Given the description of an element on the screen output the (x, y) to click on. 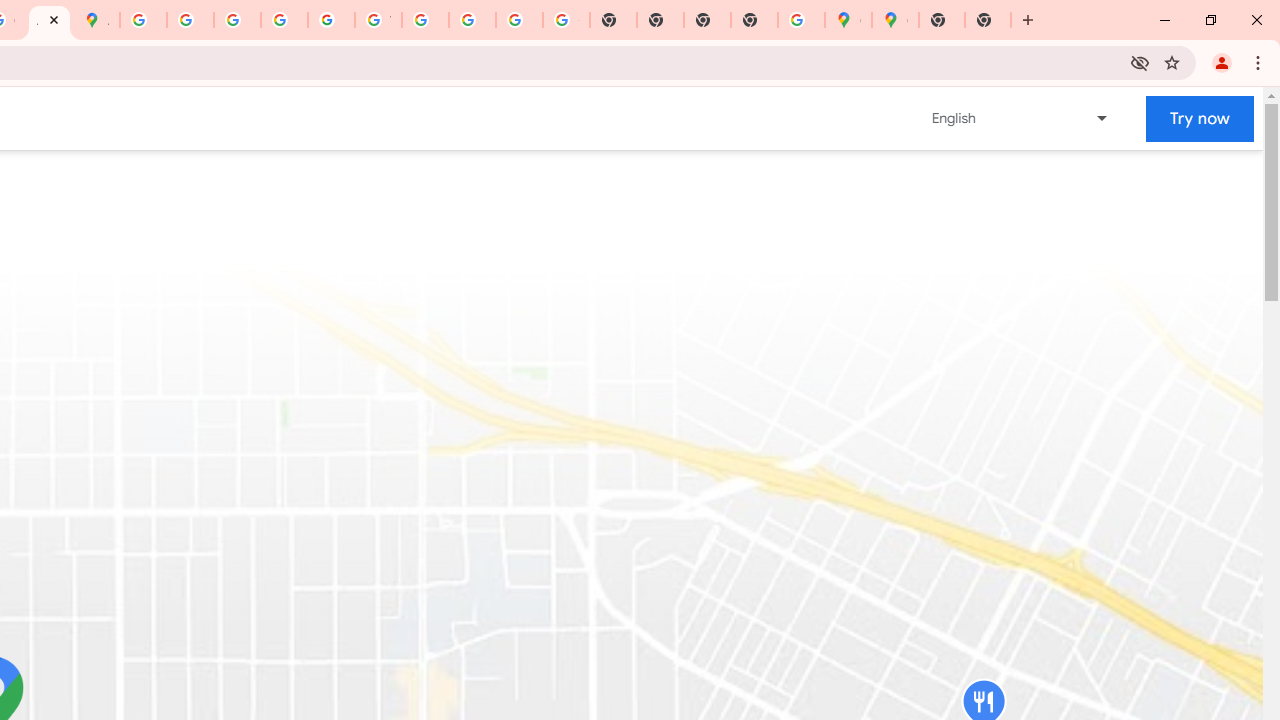
Change language or region (1021, 117)
Google Maps (848, 20)
YouTube (377, 20)
New Tab (988, 20)
Policy Accountability and Transparency - Transparency Center (143, 20)
